Given the description of an element on the screen output the (x, y) to click on. 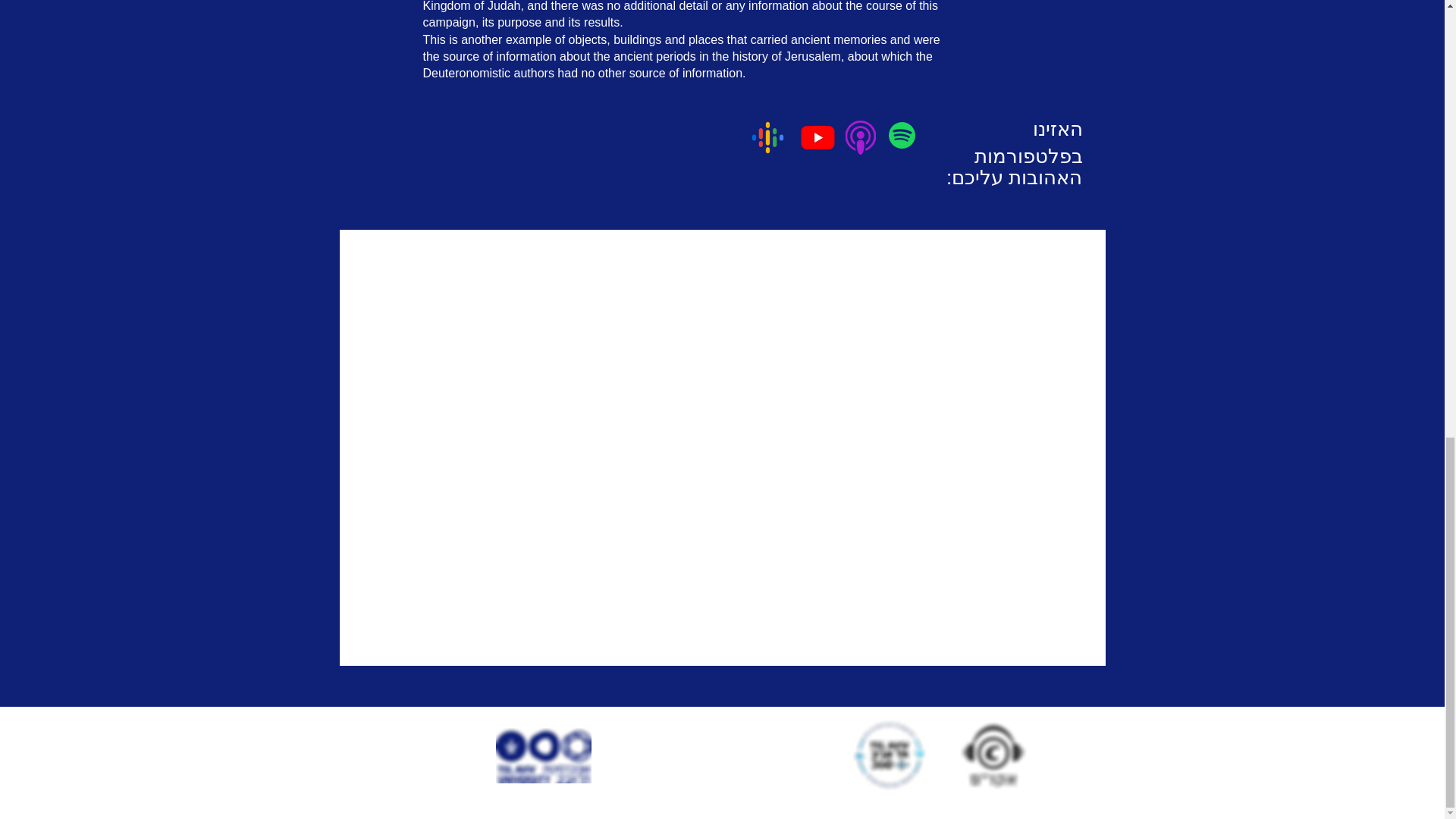
Youtube (817, 137)
Spotify (901, 135)
Google podcast (767, 137)
